Given the description of an element on the screen output the (x, y) to click on. 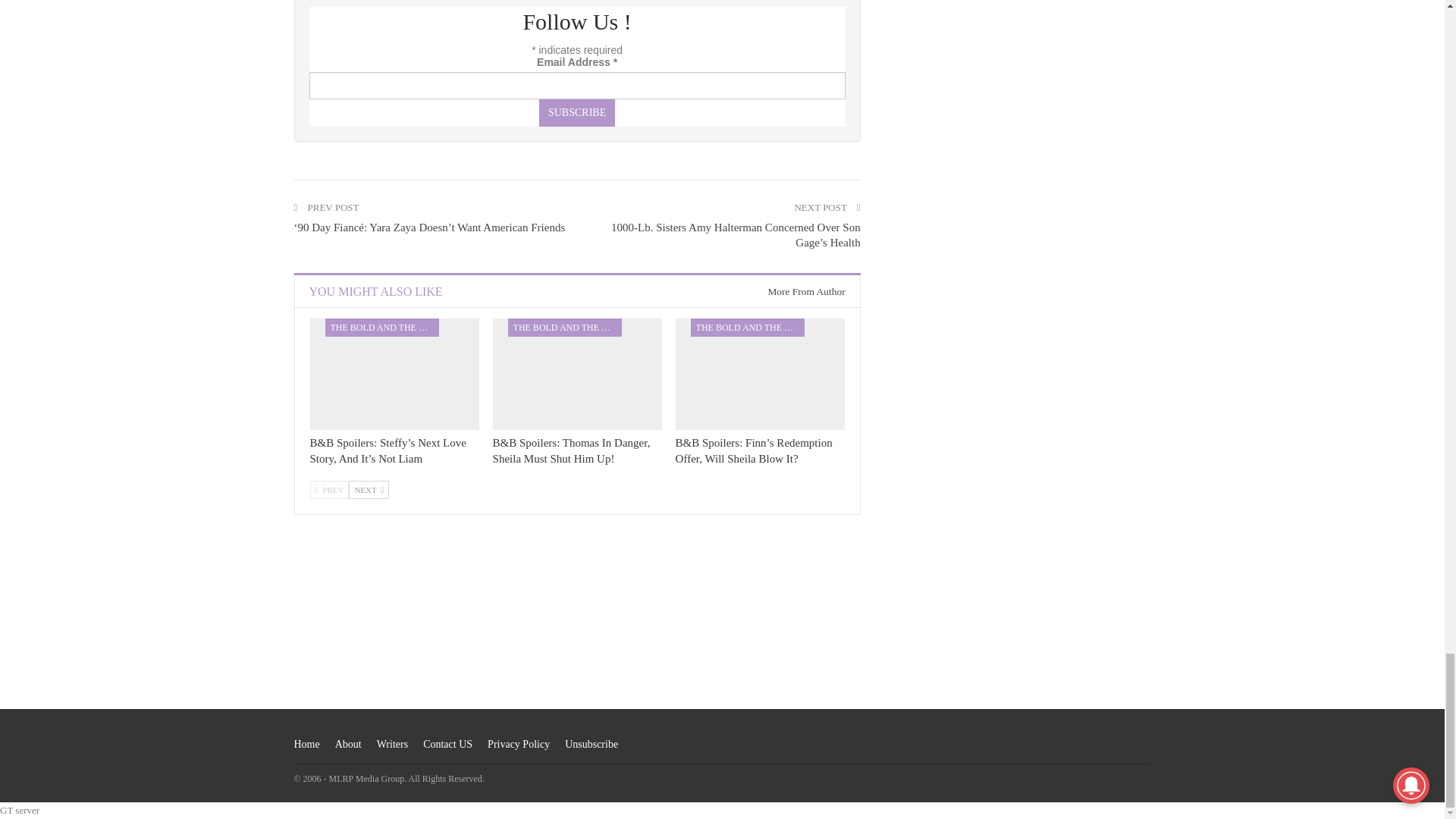
Subscribe (576, 112)
Previous (328, 489)
Next (368, 489)
